Given the description of an element on the screen output the (x, y) to click on. 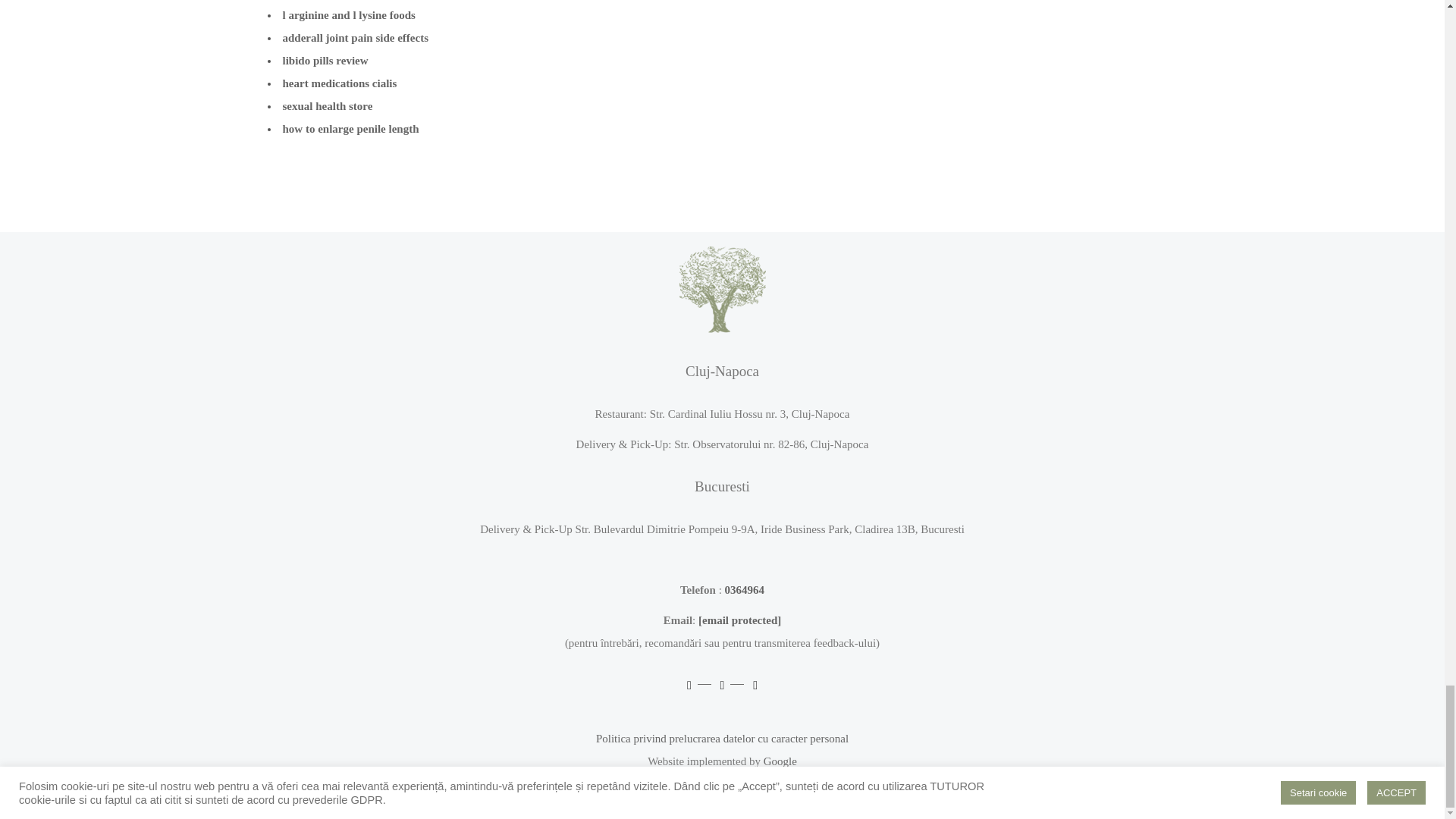
sexual health store (327, 105)
how to enlarge penile length (350, 128)
libido pills review (325, 60)
adderall joint pain side effects (355, 37)
l arginine and l lysine foods (348, 15)
heart medications cialis (339, 82)
